Given the description of an element on the screen output the (x, y) to click on. 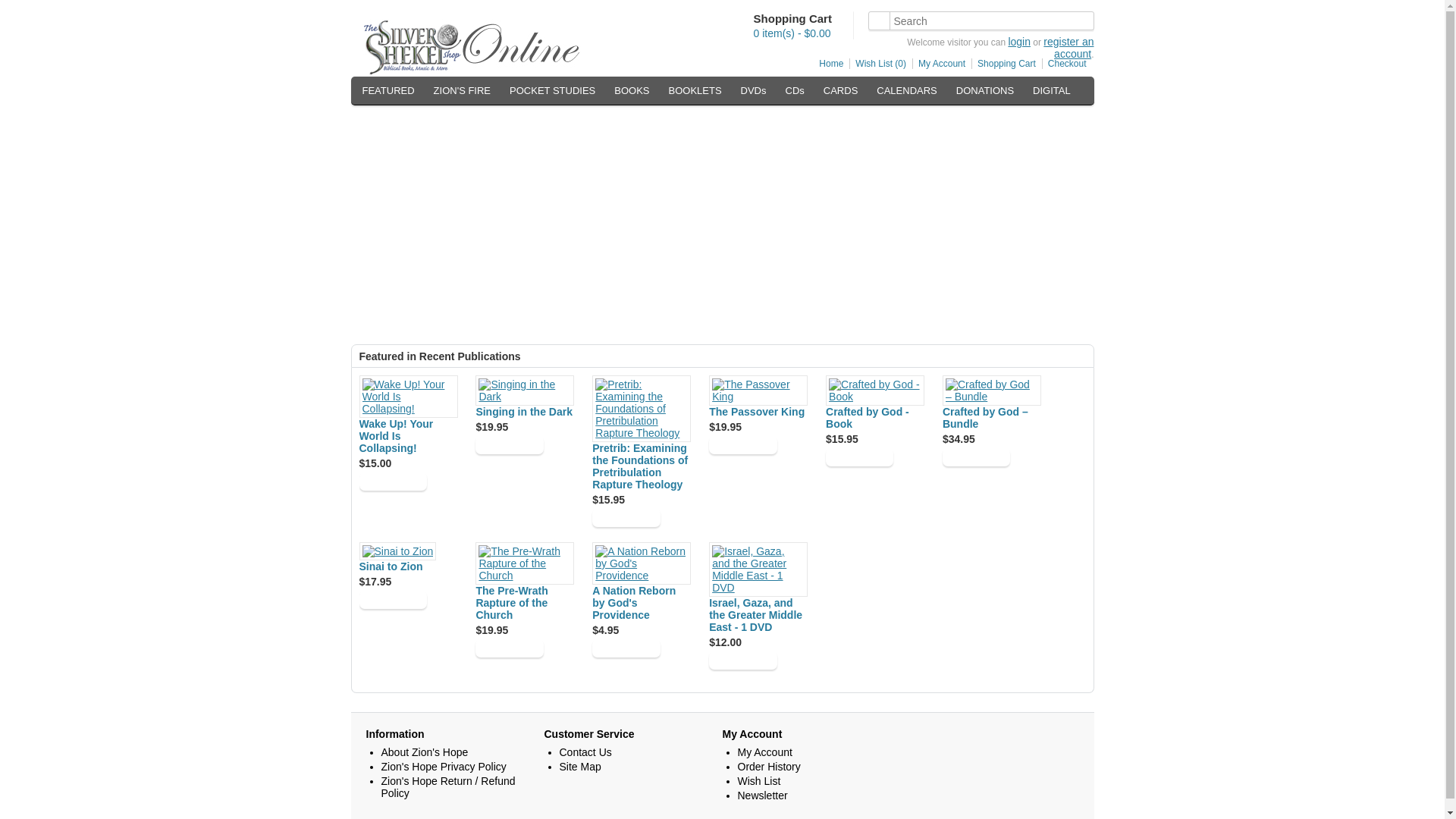
BOOKS (631, 90)
register an account (1068, 47)
CDs (794, 90)
CALENDARS (906, 90)
Add to Cart (976, 456)
My Account (938, 63)
Add to Cart (742, 660)
DVDs (753, 90)
Add to Cart (625, 517)
Add to Cart (625, 648)
